Given the description of an element on the screen output the (x, y) to click on. 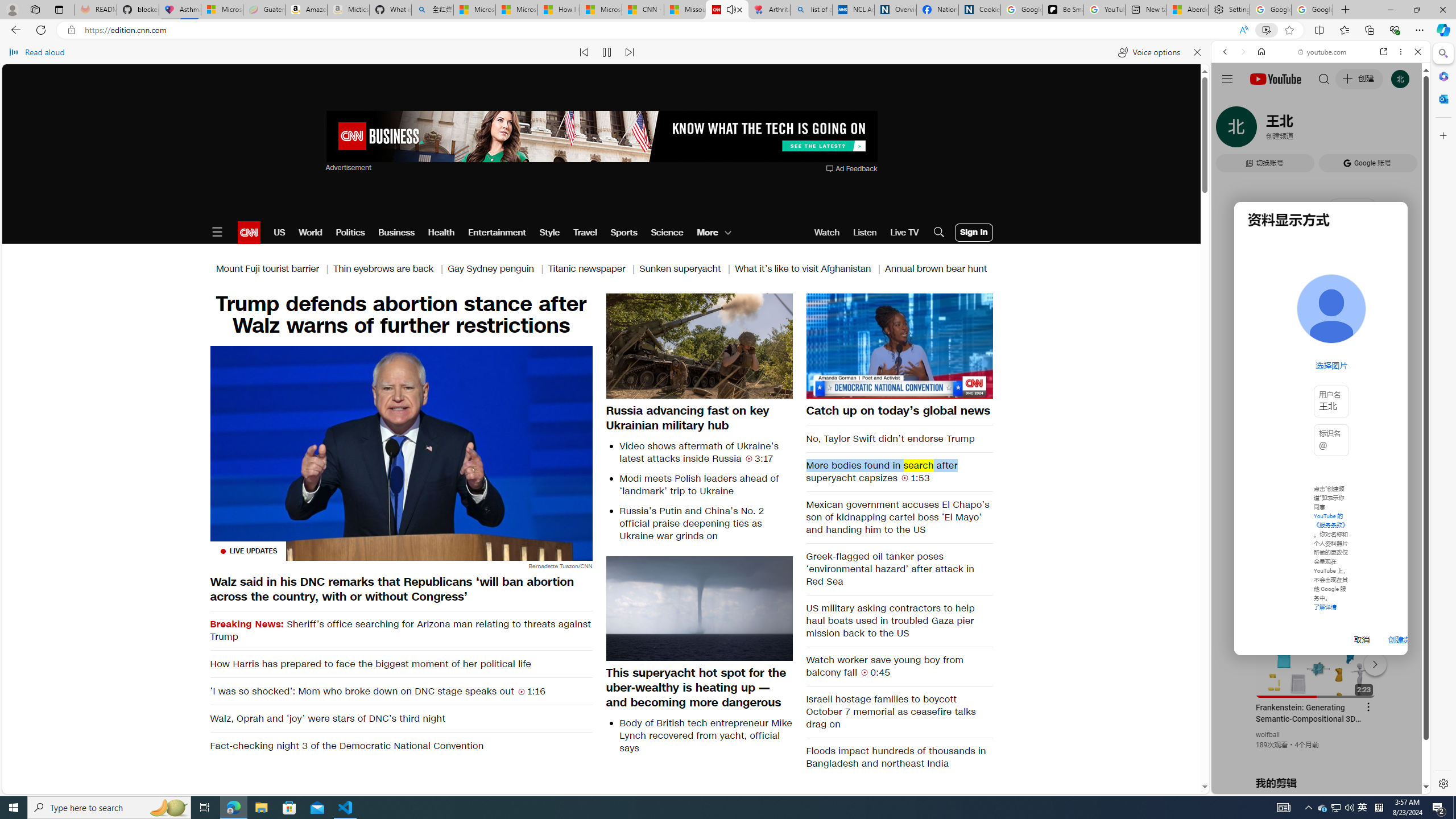
Mute (821, 389)
Breaking News, Latest News and Videos | CNN - Audio playing (726, 9)
Mount Fuji tourist barrier | (274, 268)
you (1315, 755)
Captions Unavailable (927, 389)
